Given the description of an element on the screen output the (x, y) to click on. 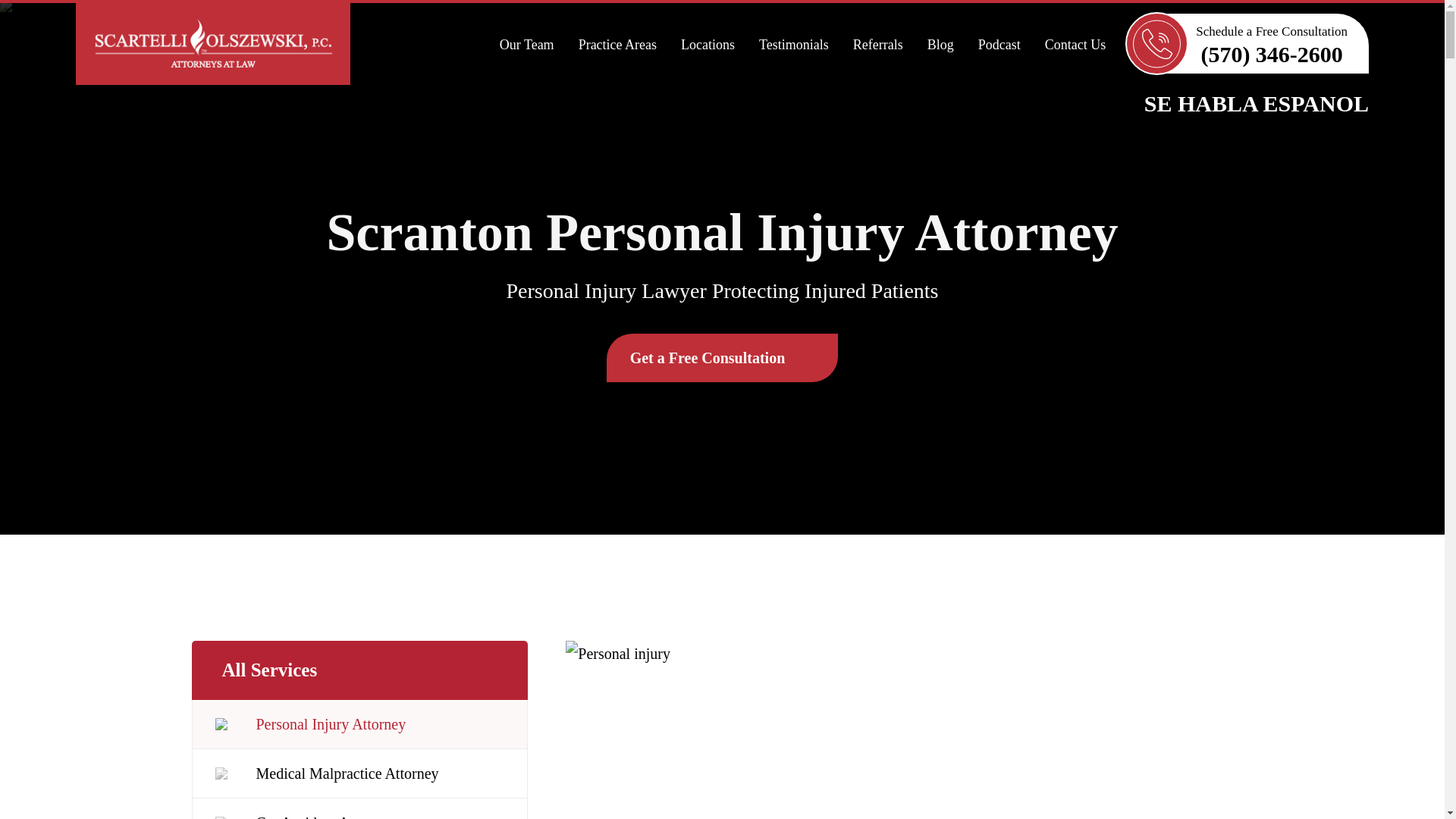
Car Accidents (359, 808)
Contact Us (1075, 44)
Personal Injury (359, 724)
Personal Injury Attorney 2 (909, 729)
Blog (940, 44)
Locations (707, 44)
Our Team (526, 44)
Medical Malpractice (359, 773)
Practice Areas (617, 44)
Podcast (999, 44)
